Given the description of an element on the screen output the (x, y) to click on. 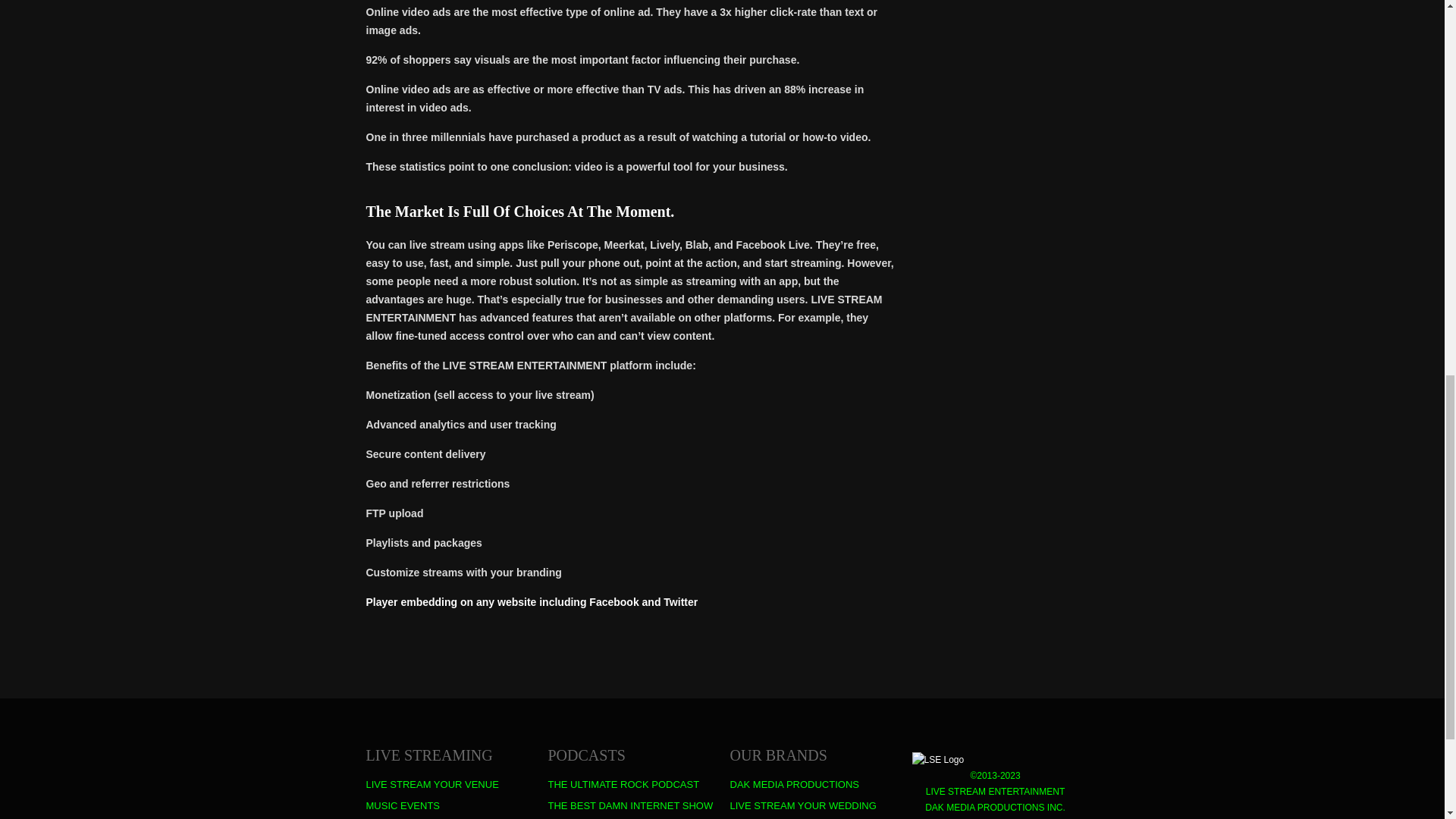
LIVE STREAM YOUR VENUE (431, 784)
THE BEST DAMN INTERNET SHOW (630, 806)
MUSIC EVENTS (402, 806)
THE ULTIMATE ROCK PODCAST (622, 784)
DAK MEDIA PRODUCTIONS (794, 784)
LIVE STREAM YOUR WEDDING (802, 806)
